Given the description of an element on the screen output the (x, y) to click on. 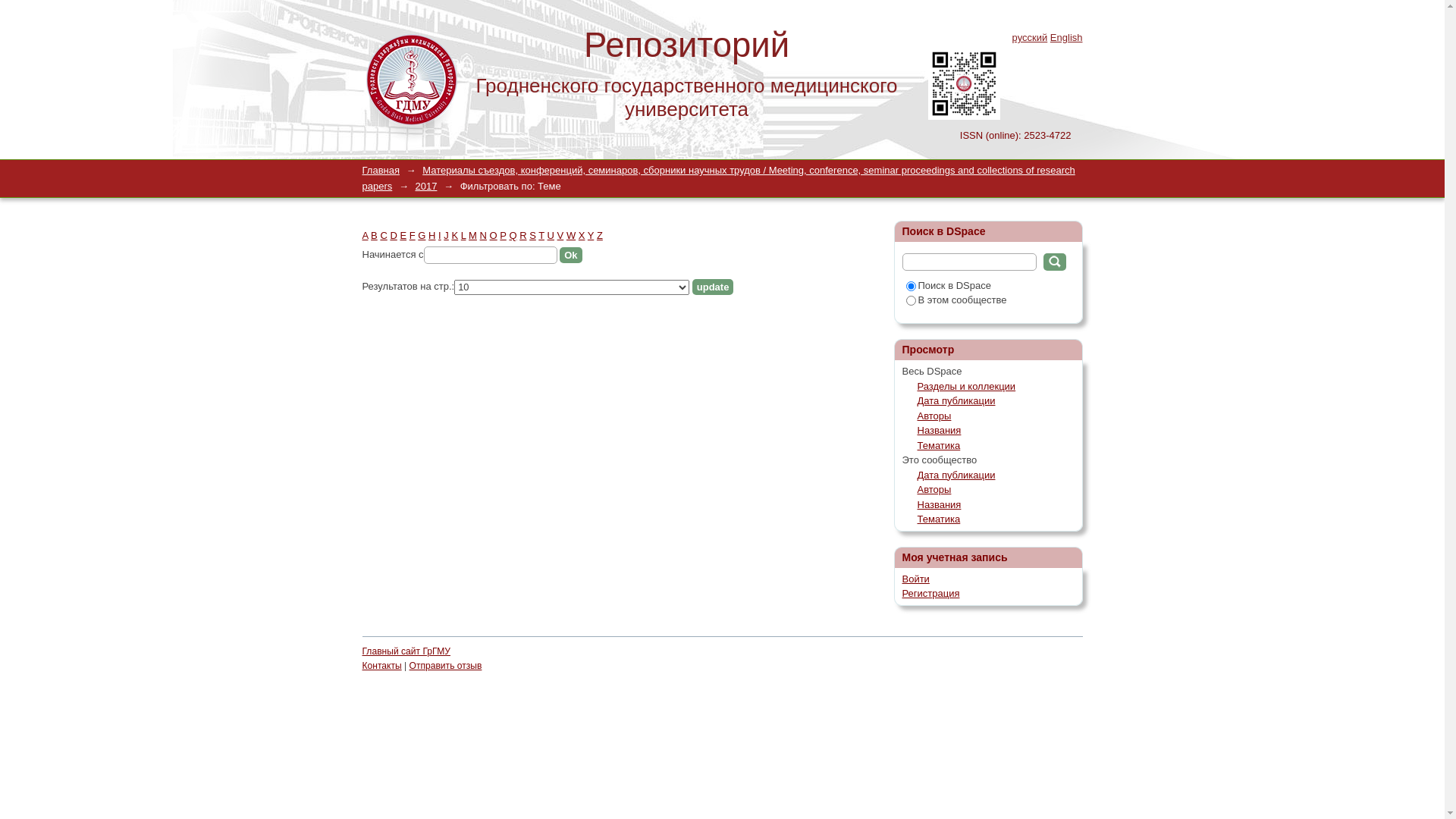
H Element type: text (431, 235)
U Element type: text (550, 235)
Ok Element type: text (1054, 261)
K Element type: text (454, 235)
E Element type: text (402, 235)
L Element type: text (463, 235)
I Element type: text (439, 235)
N Element type: text (483, 235)
T Element type: text (541, 235)
English Element type: text (1066, 37)
2017 Element type: text (426, 185)
Q Element type: text (512, 235)
D Element type: text (392, 235)
F Element type: text (412, 235)
Ok Element type: text (570, 255)
G Element type: text (421, 235)
O Element type: text (493, 235)
Y Element type: text (590, 235)
Z Element type: text (599, 235)
A Element type: text (365, 235)
M Element type: text (472, 235)
S Element type: text (532, 235)
J Element type: text (445, 235)
P Element type: text (502, 235)
V Element type: text (560, 235)
B Element type: text (373, 235)
update Element type: text (713, 286)
C Element type: text (382, 235)
W Element type: text (570, 235)
R Element type: text (522, 235)
X Element type: text (581, 235)
